Given the description of an element on the screen output the (x, y) to click on. 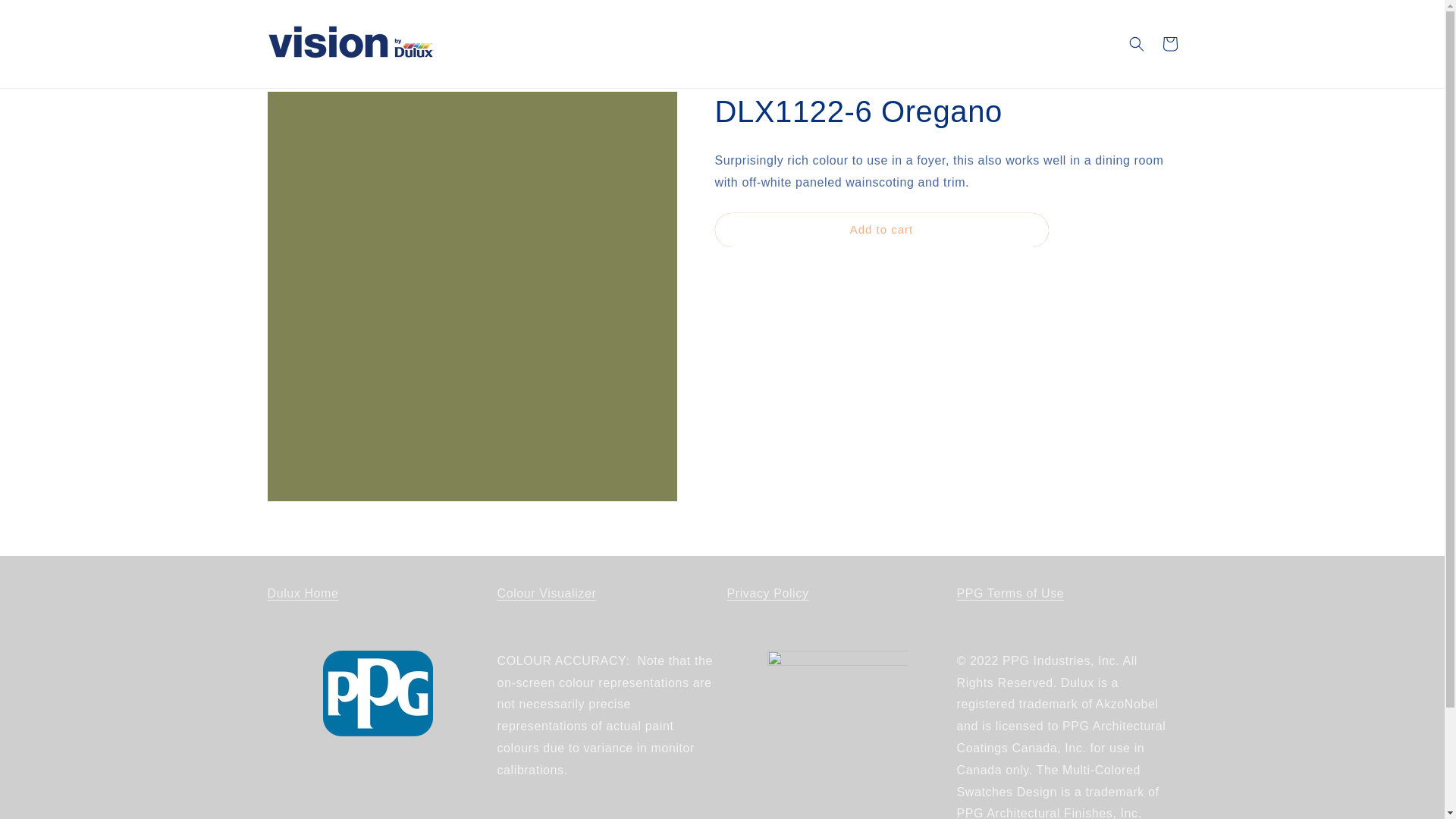
Cart (1169, 43)
Skip to content (45, 16)
Skip to product information (312, 107)
Add to cart (881, 229)
Dulux Home (301, 593)
Colour Visualizer (546, 593)
Privacy Policy (767, 593)
PPG Terms of Use (1010, 593)
